Given the description of an element on the screen output the (x, y) to click on. 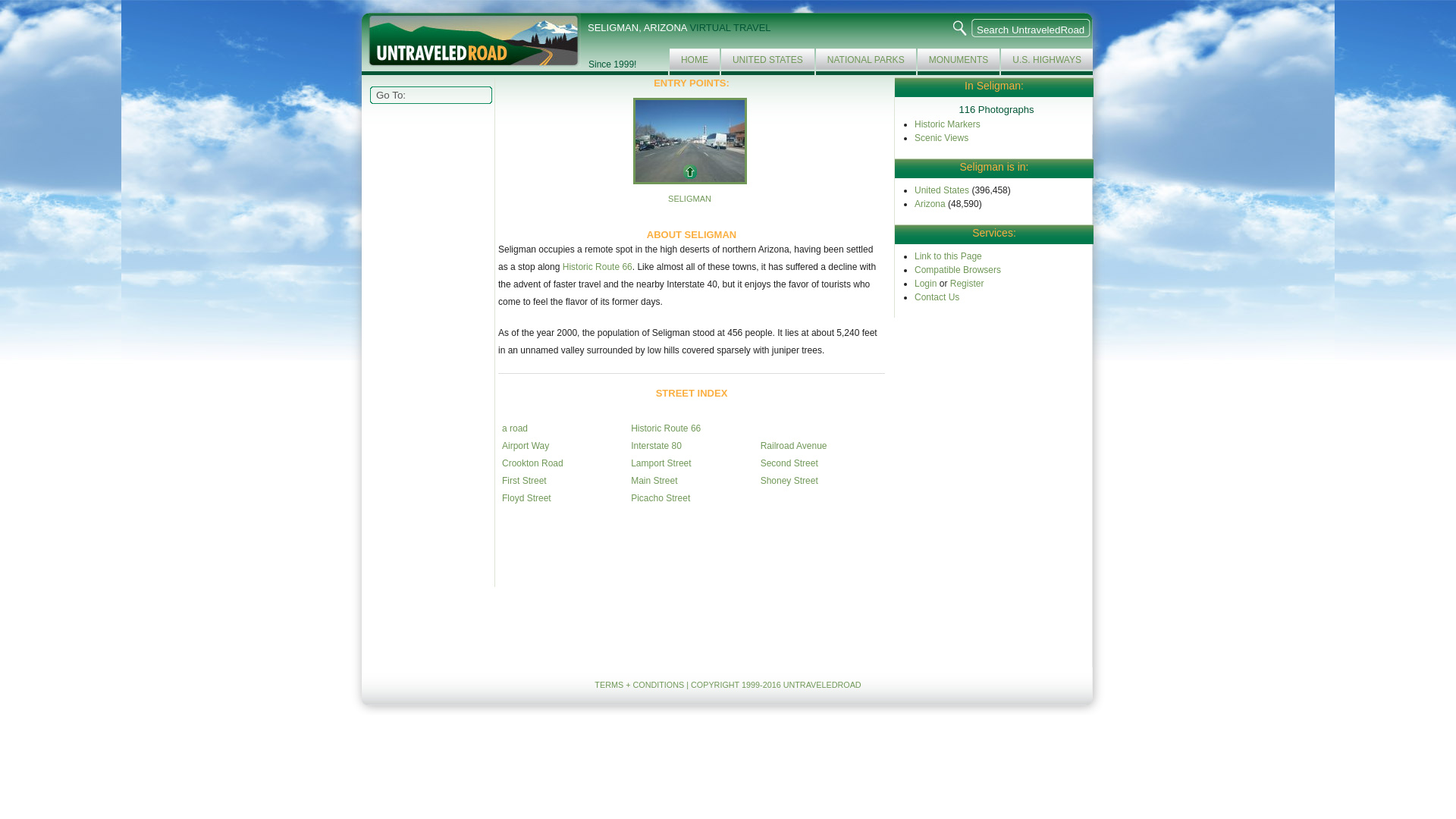
Airport Way (525, 445)
Historic Markers (946, 122)
Scenic Views (941, 136)
Crookton Road (532, 462)
Second Street (789, 462)
Floyd Street (526, 498)
Main Street (653, 480)
Shoney Street (789, 480)
First Street (524, 480)
United States (941, 190)
